Given the description of an element on the screen output the (x, y) to click on. 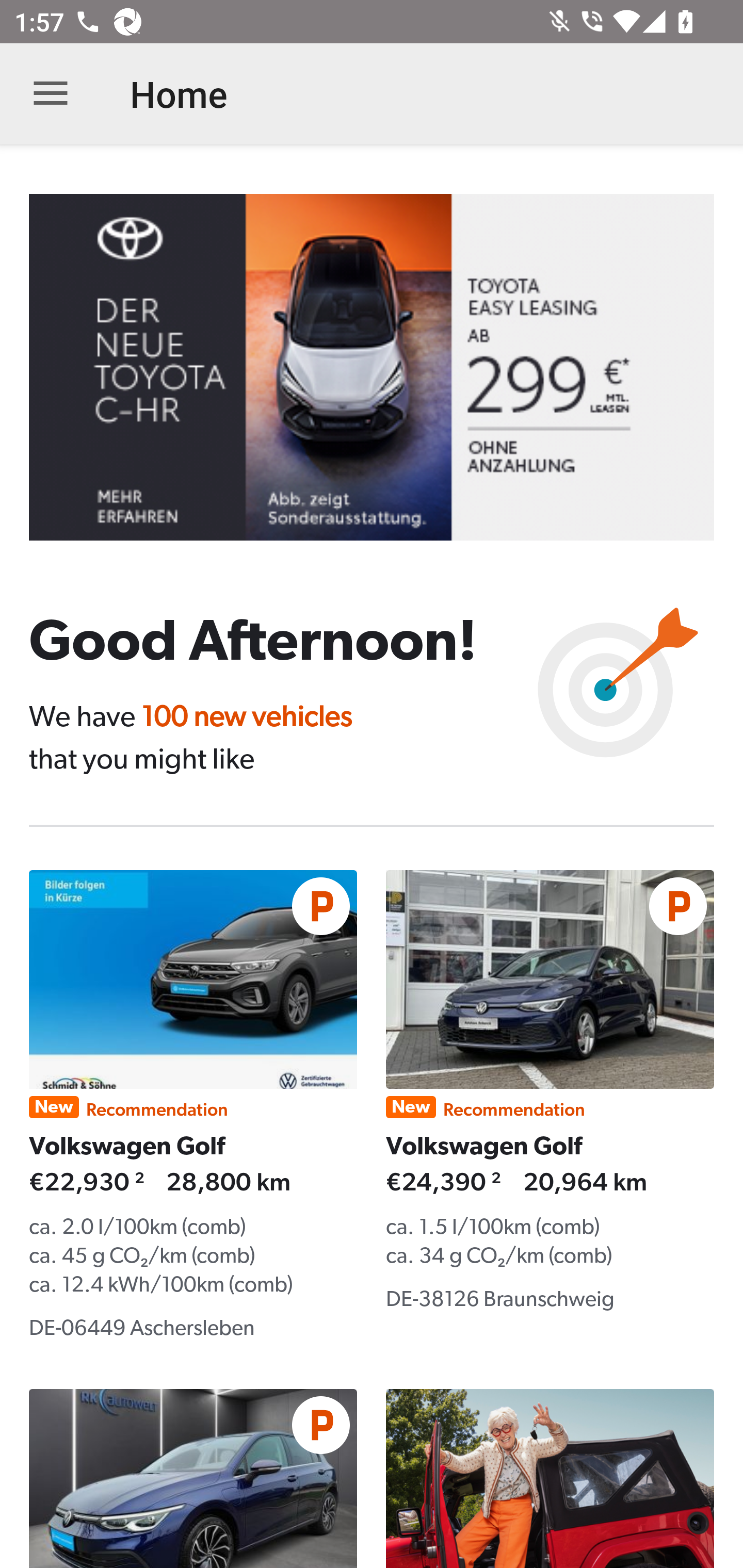
Open navigation bar (50, 93)
B31340770 (385, 367)
